Given the description of an element on the screen output the (x, y) to click on. 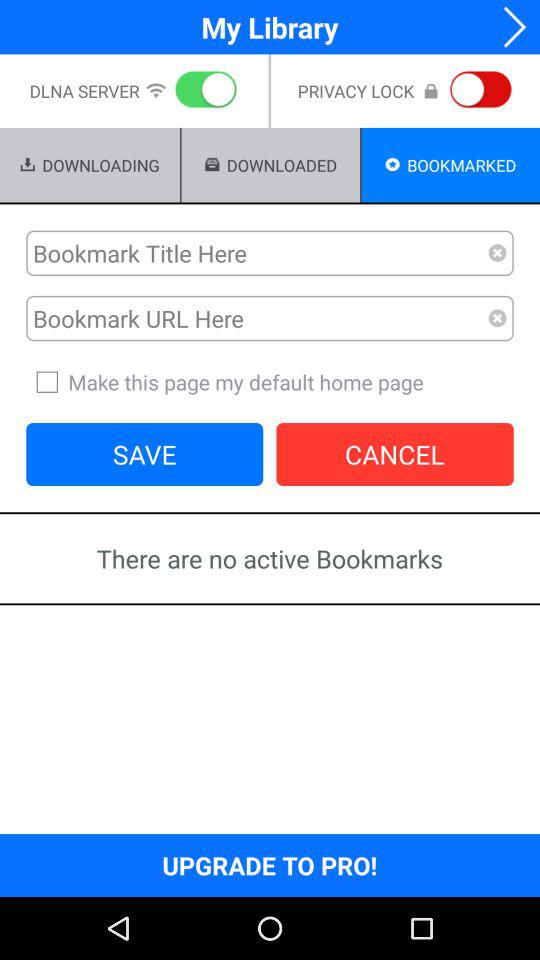
erase/delete selection (497, 318)
